Given the description of an element on the screen output the (x, y) to click on. 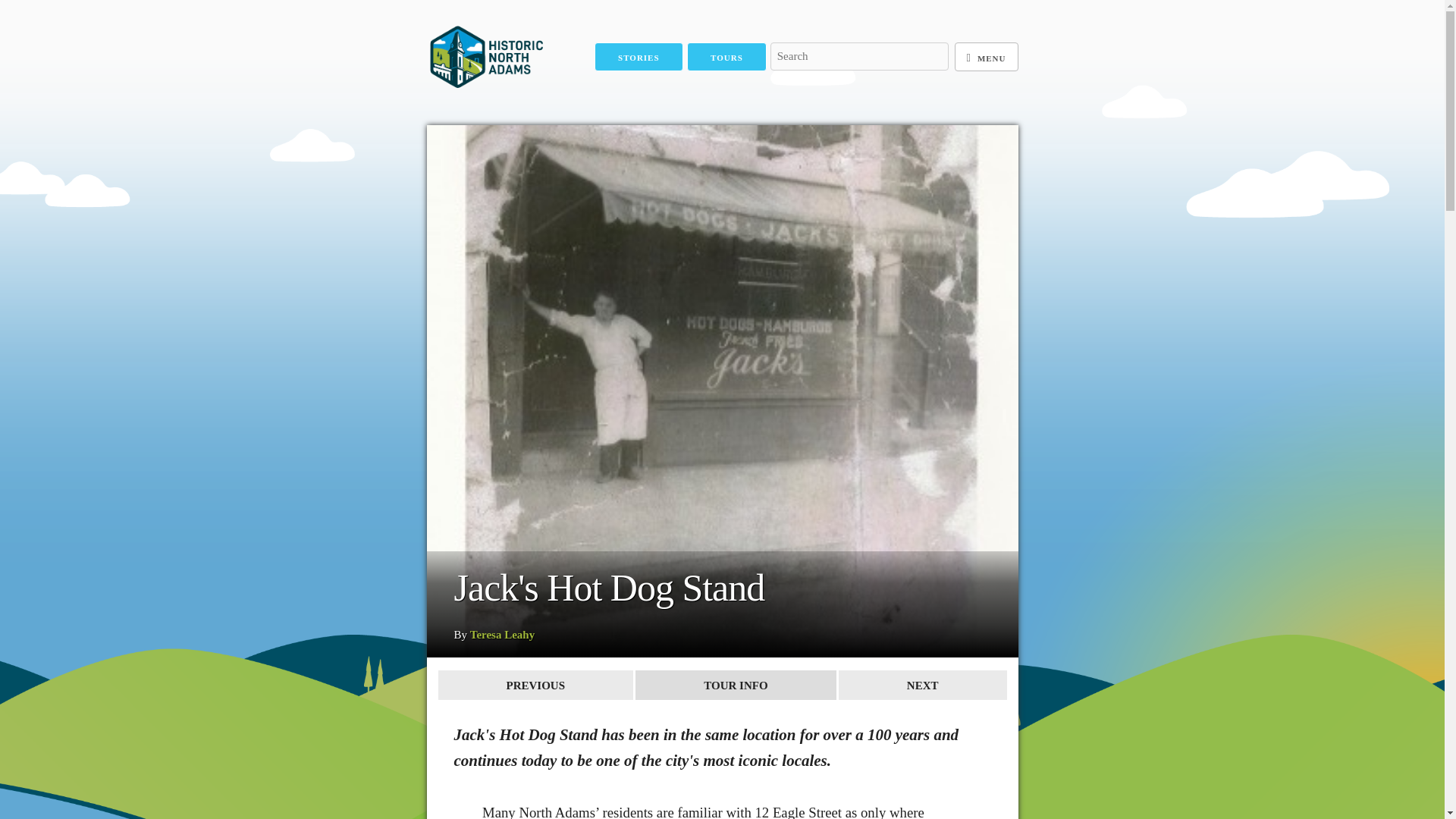
TOURS (727, 57)
STORIES (638, 57)
Next stop on Tour (922, 685)
NEXT (922, 685)
Submit (793, 84)
Submit (793, 84)
PREVIOUS (535, 685)
Teresa Leahy (502, 634)
View Tour: Eagle Street Tour (734, 685)
Previous stop on Tour (535, 685)
TOUR INFO (734, 685)
Menu (986, 57)
